Given the description of an element on the screen output the (x, y) to click on. 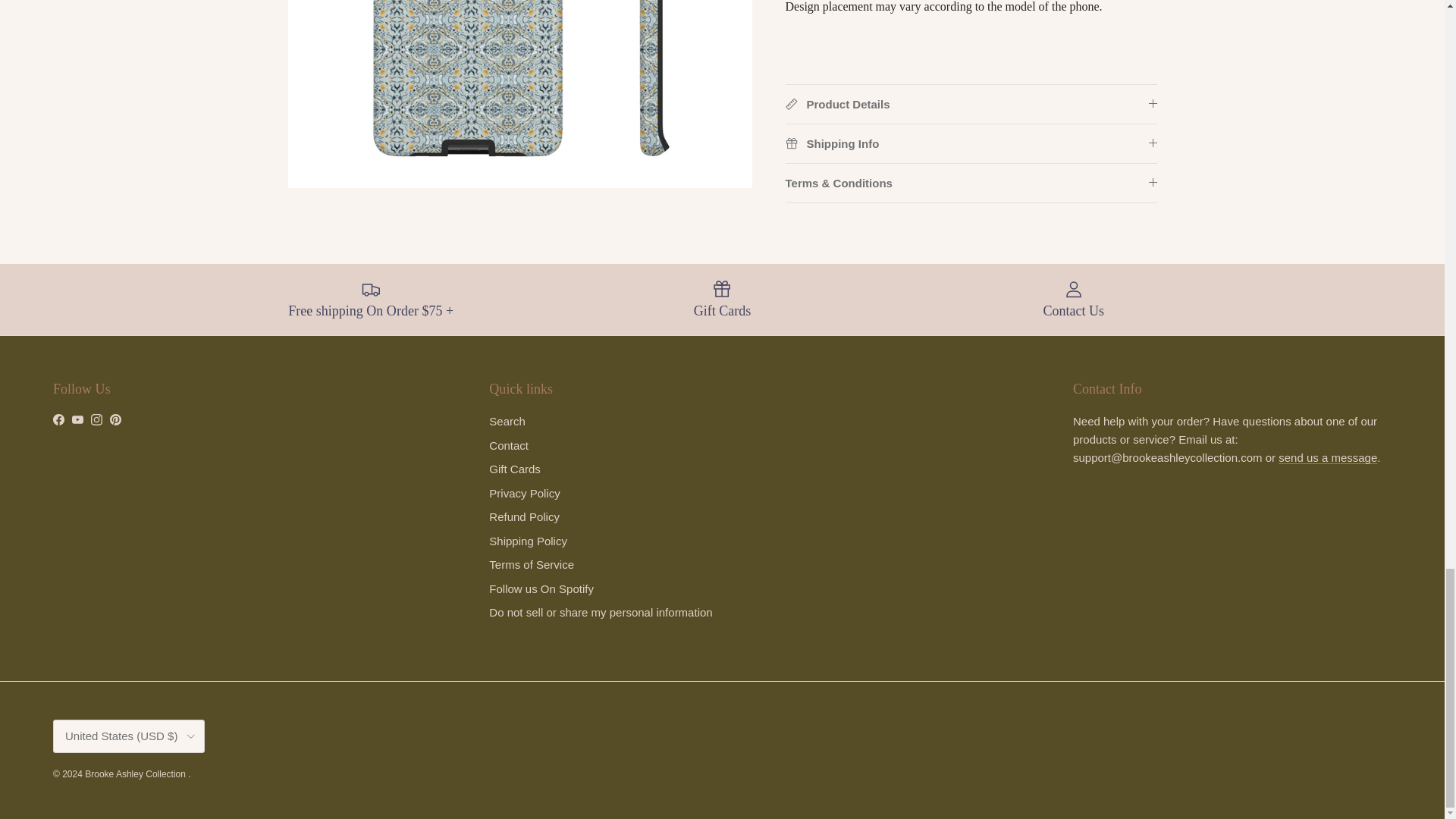
Brooke Ashley Collection  on Pinterest (115, 419)
Contact Us (1327, 457)
Brooke Ashley Collection  on YouTube (76, 419)
Brooke Ashley Collection  on Facebook (58, 419)
Brooke Ashley Collection  on Instagram (95, 419)
